Given the description of an element on the screen output the (x, y) to click on. 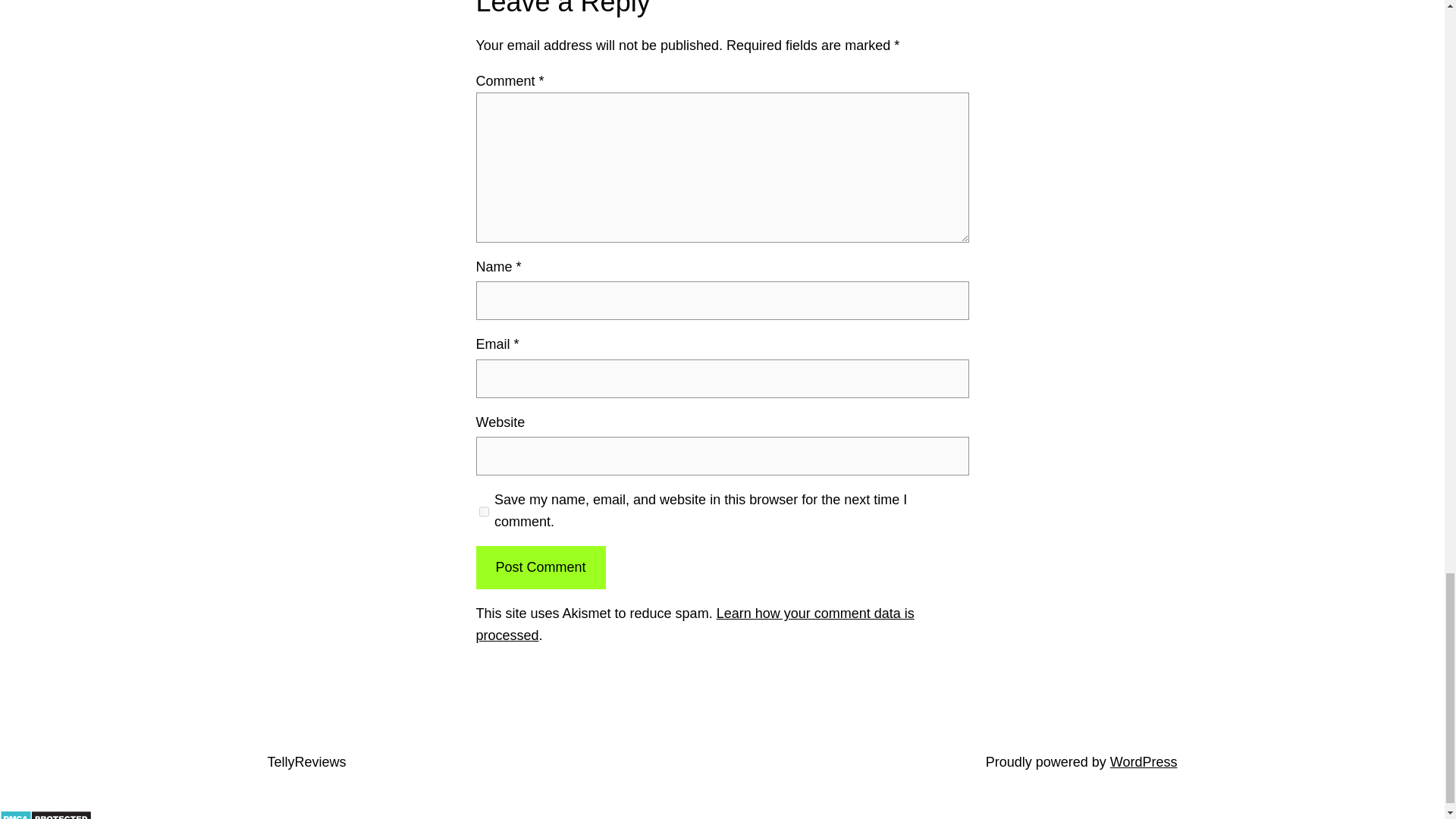
Post Comment (540, 567)
Post Comment (540, 567)
Learn how your comment data is processed (695, 624)
WordPress (1143, 761)
TellyReviews (306, 761)
